Given the description of an element on the screen output the (x, y) to click on. 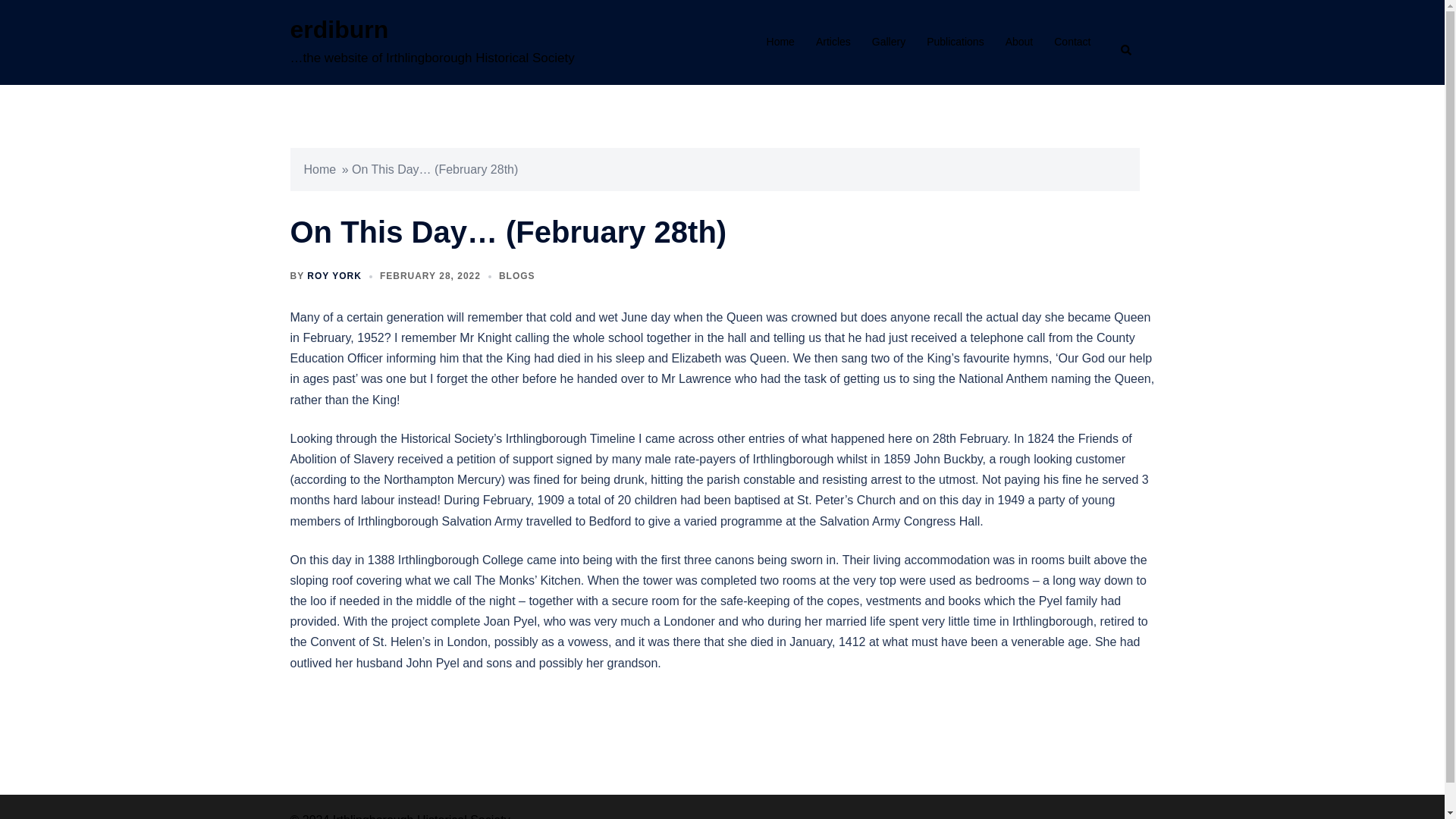
Search (1139, 42)
Home (319, 169)
About (1019, 42)
Home (780, 42)
Publications (955, 42)
FEBRUARY 28, 2022 (430, 276)
Gallery (888, 42)
ROY YORK (334, 276)
BLOGS (517, 276)
Contact (1072, 42)
